Given the description of an element on the screen output the (x, y) to click on. 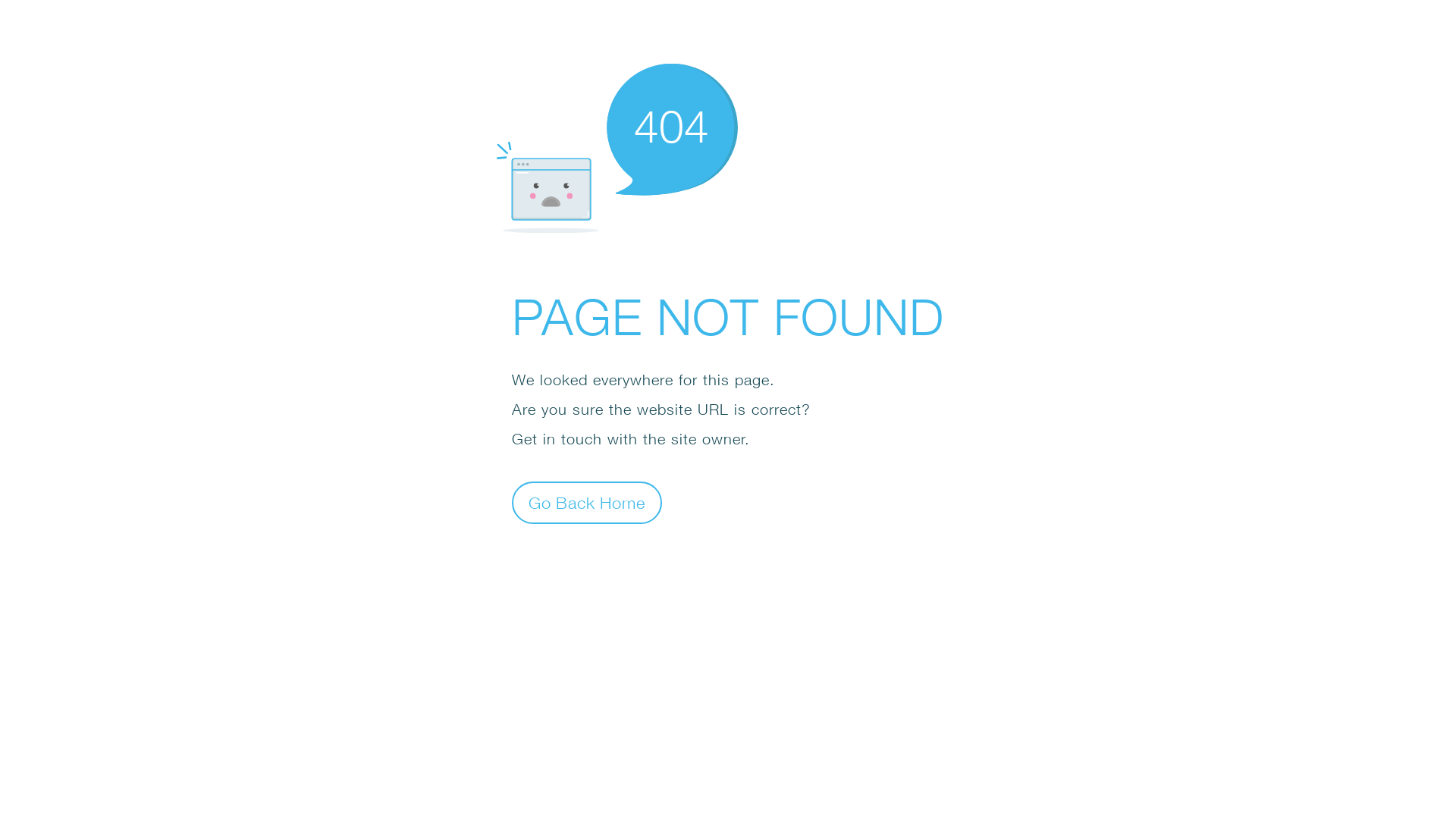
Go Back Home Element type: text (586, 502)
